Given the description of an element on the screen output the (x, y) to click on. 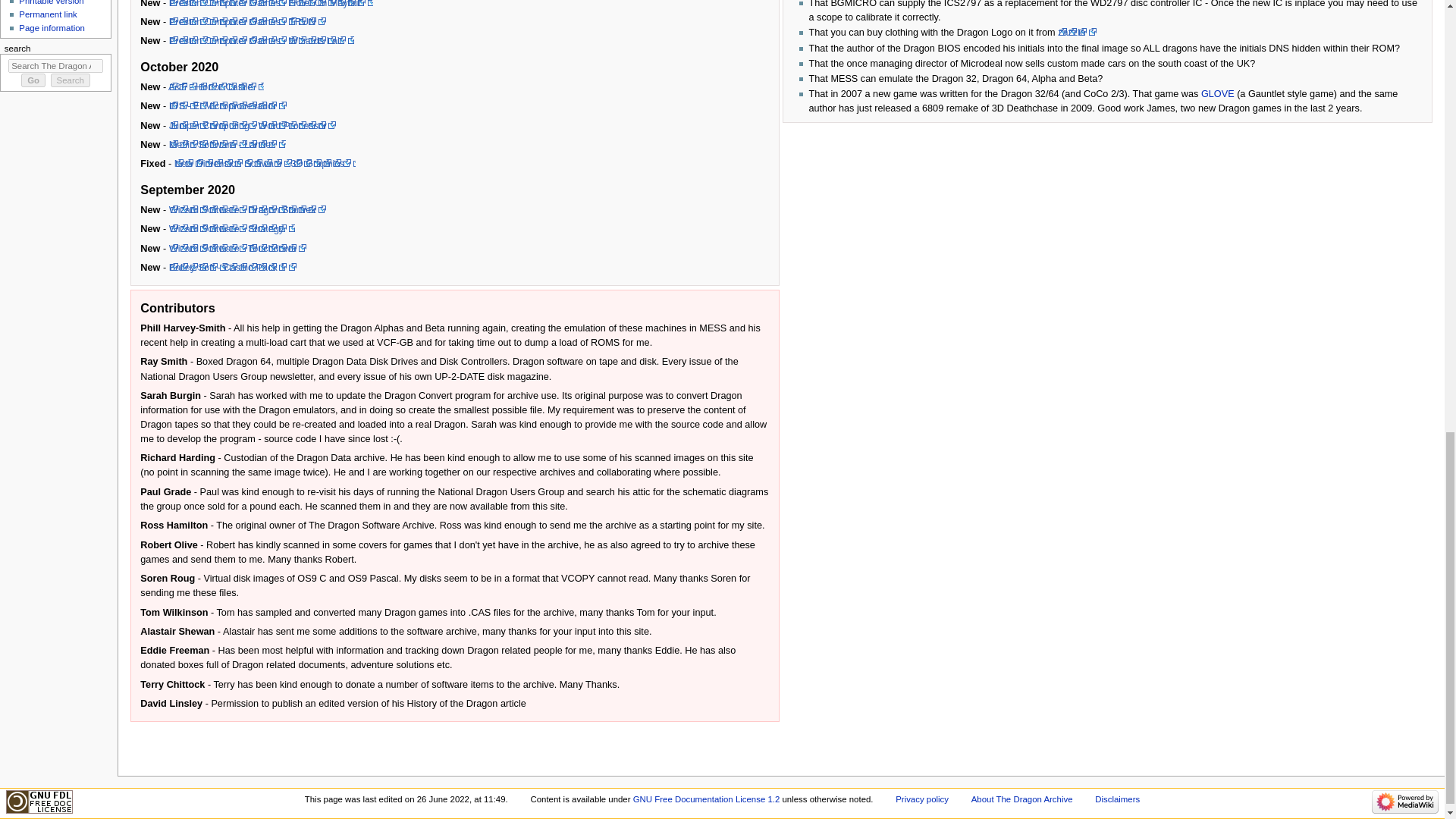
Search (70, 79)
Search (70, 79)
GLOVE (1217, 93)
Go (33, 79)
Go (33, 79)
